Given the description of an element on the screen output the (x, y) to click on. 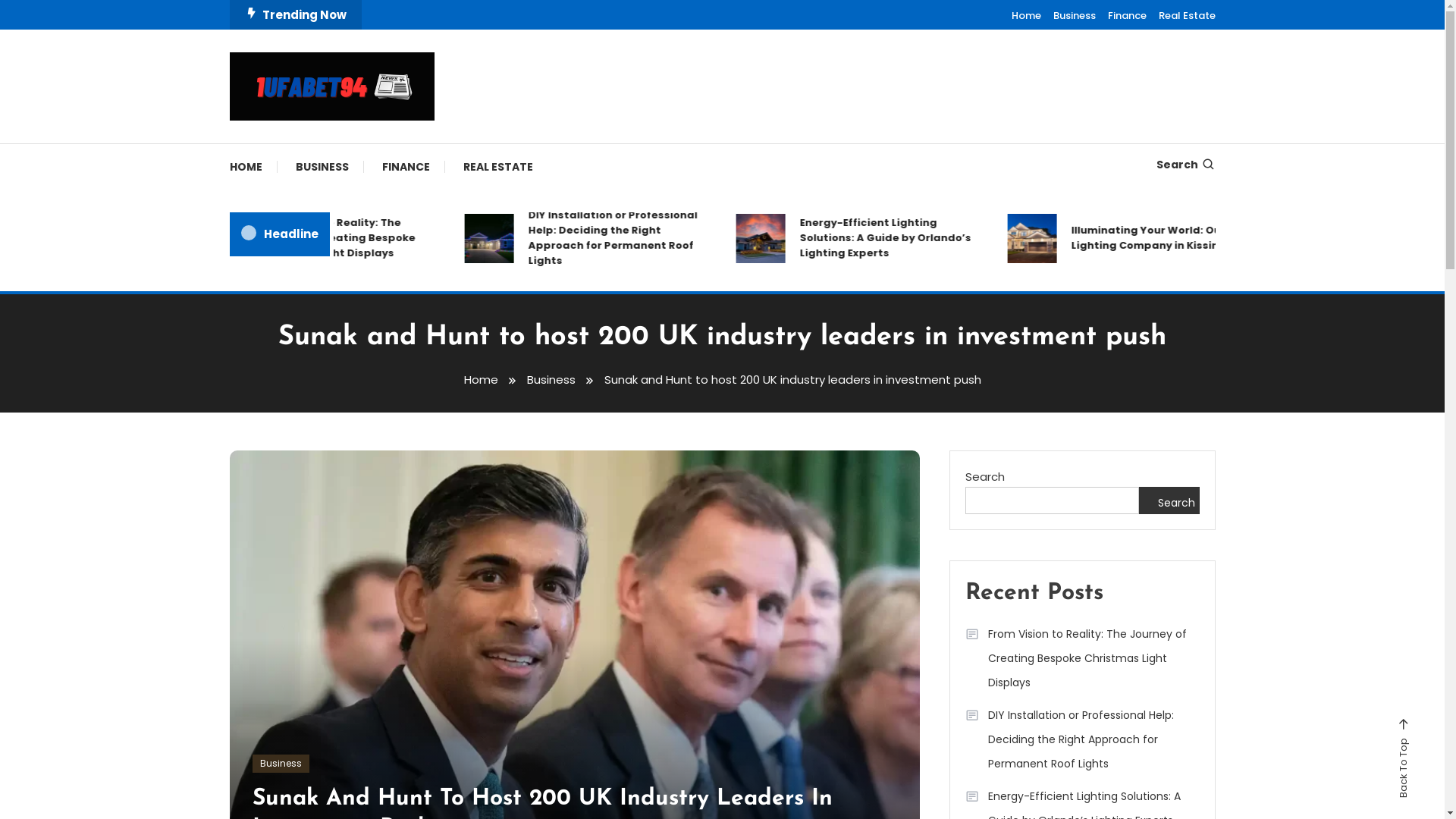
REAL ESTATE Element type: text (497, 166)
Business Element type: text (279, 763)
Search Element type: text (770, 434)
Home Element type: text (1026, 15)
BUSINESS Element type: text (322, 166)
Finance Element type: text (1126, 15)
Business Element type: text (550, 379)
Search Element type: text (1184, 164)
HOME Element type: text (252, 166)
Business Element type: text (1073, 15)
1UFABET94 News Element type: text (339, 140)
Home Element type: text (481, 379)
FINANCE Element type: text (406, 166)
Real Estate Element type: text (1186, 15)
Search Element type: text (1169, 500)
